Given the description of an element on the screen output the (x, y) to click on. 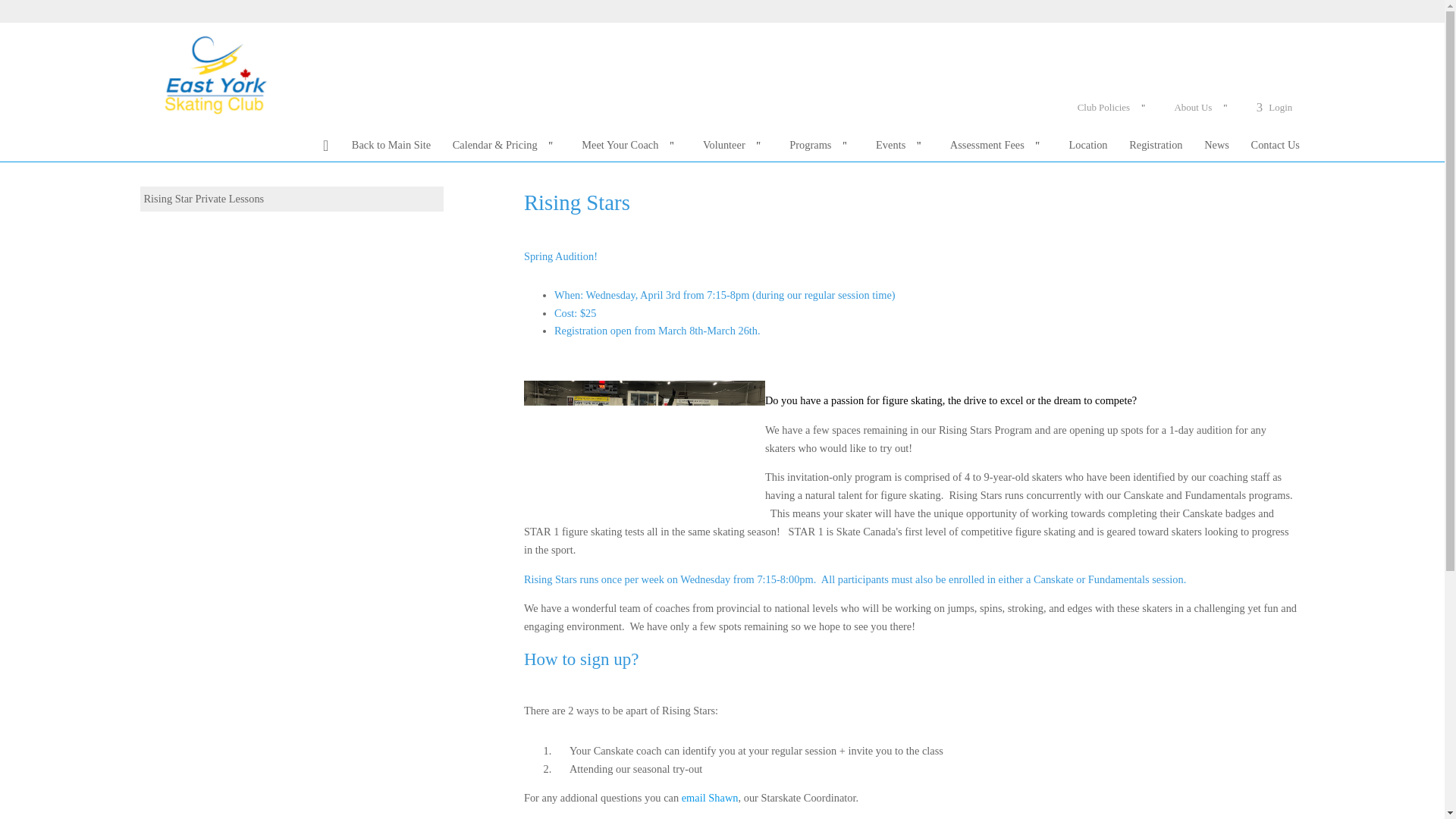
Program Registrations - EYSC (212, 72)
About Us (1204, 107)
About Us (1204, 107)
Club Policies (1115, 107)
Club Policies (1115, 107)
Back to Main Site (390, 144)
Login (1274, 107)
